Given the description of an element on the screen output the (x, y) to click on. 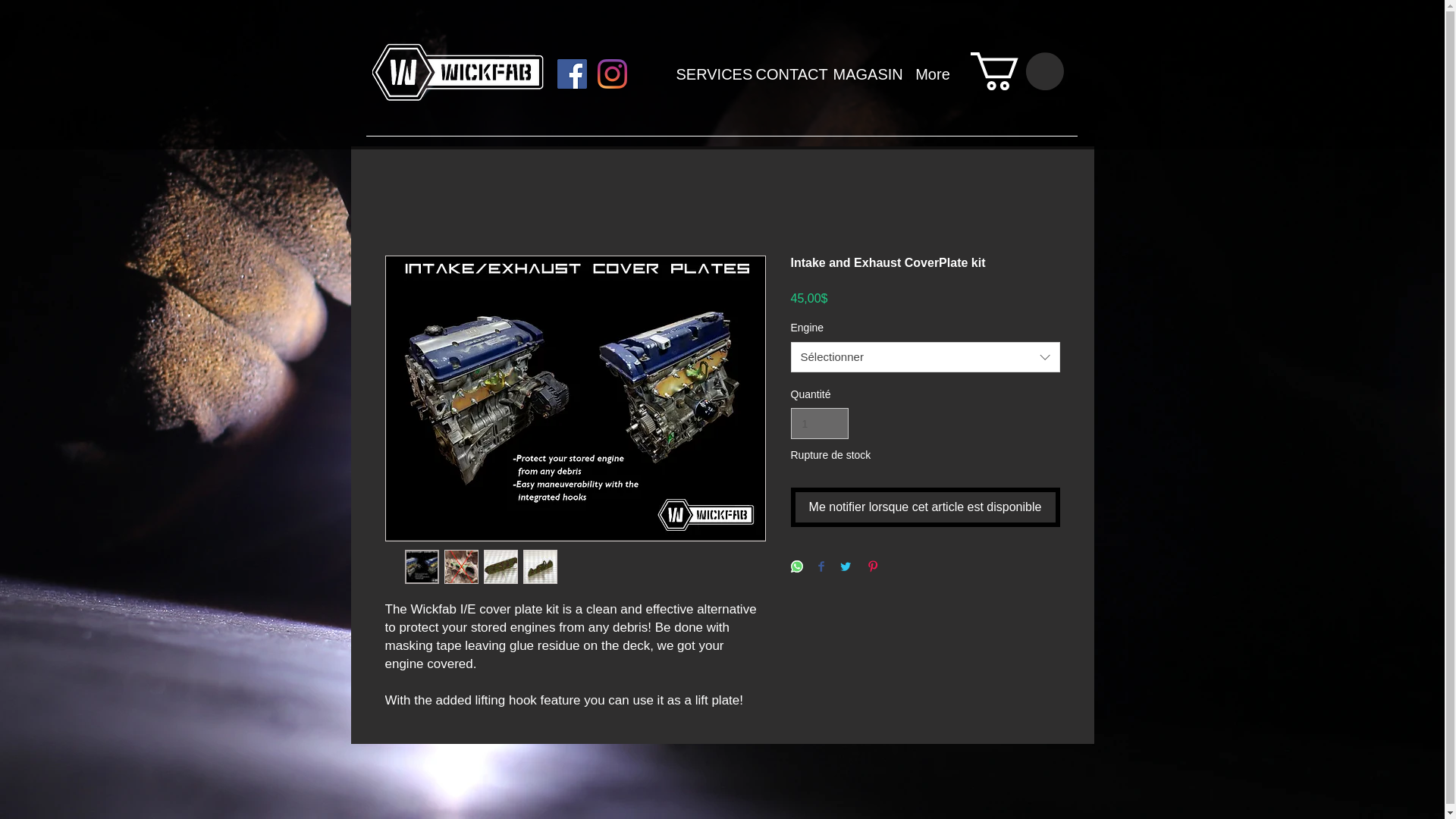
SERVICES (703, 74)
1 (818, 422)
MAGASIN (862, 74)
CONTACT (783, 74)
Me notifier lorsque cet article est disponible (924, 507)
